Given the description of an element on the screen output the (x, y) to click on. 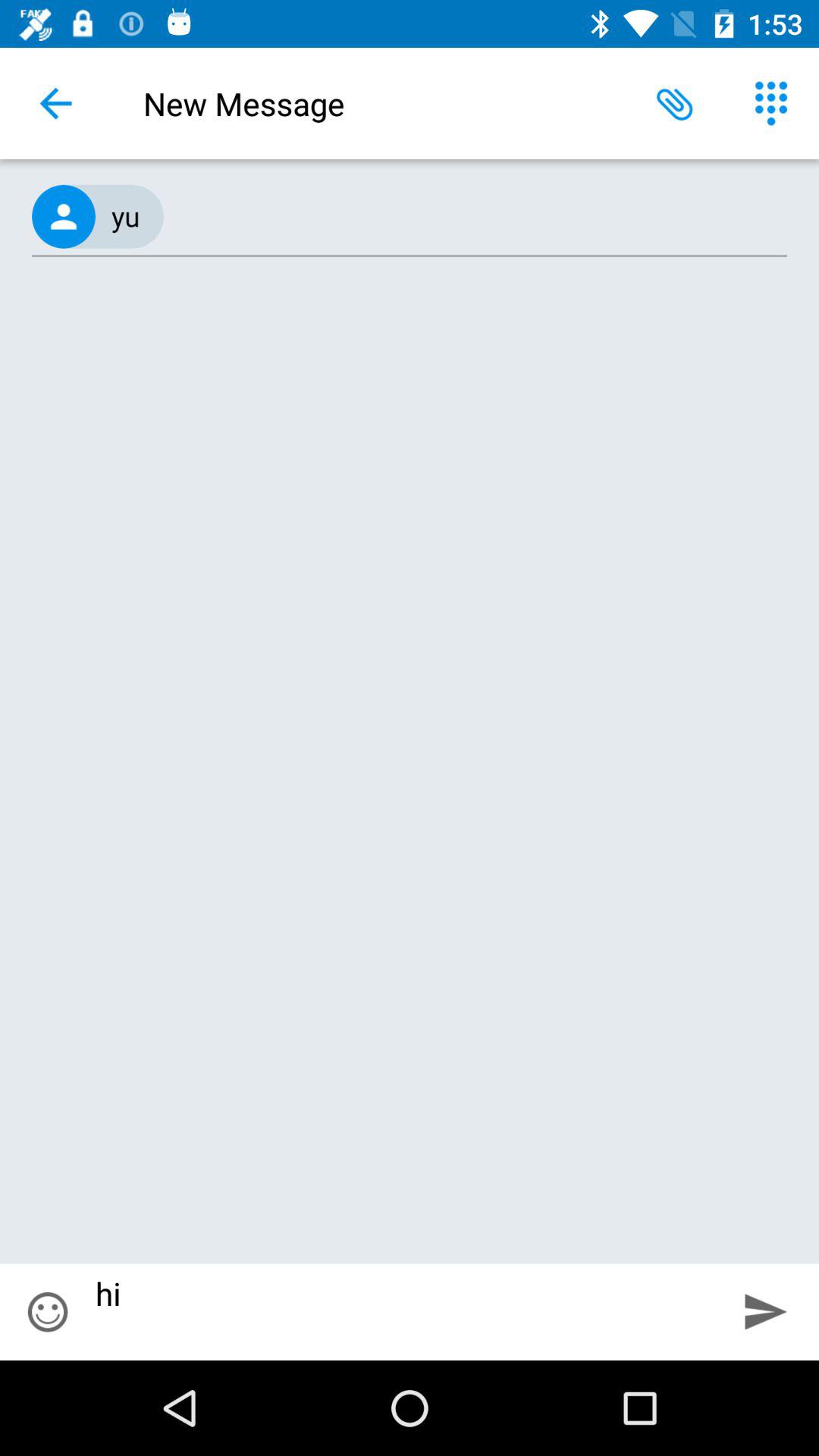
open the icon next to new message (55, 103)
